Given the description of an element on the screen output the (x, y) to click on. 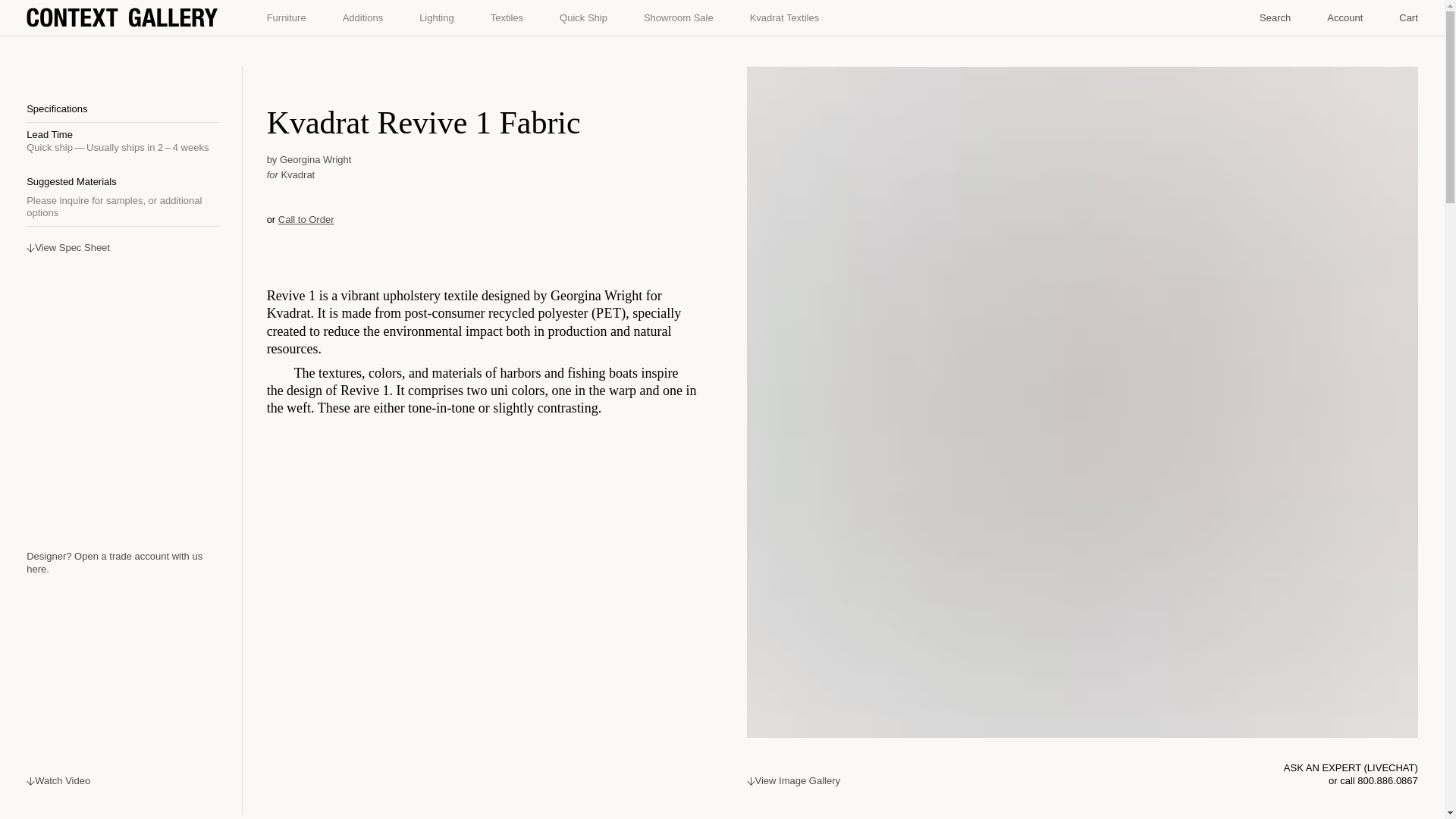
Furniture (286, 18)
Context Gallery (121, 17)
